Given the description of an element on the screen output the (x, y) to click on. 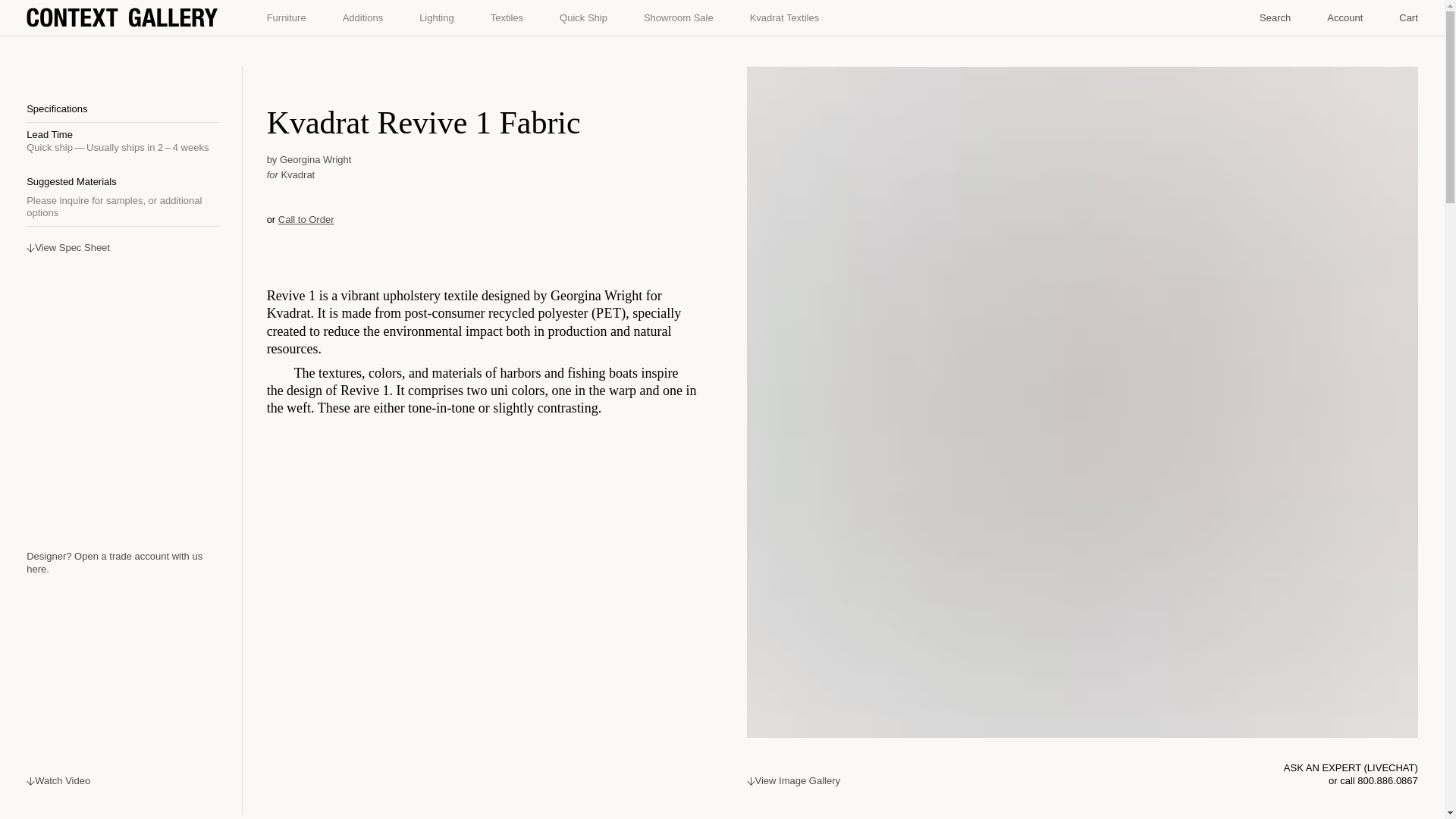
Furniture (286, 18)
Context Gallery (121, 17)
